Given the description of an element on the screen output the (x, y) to click on. 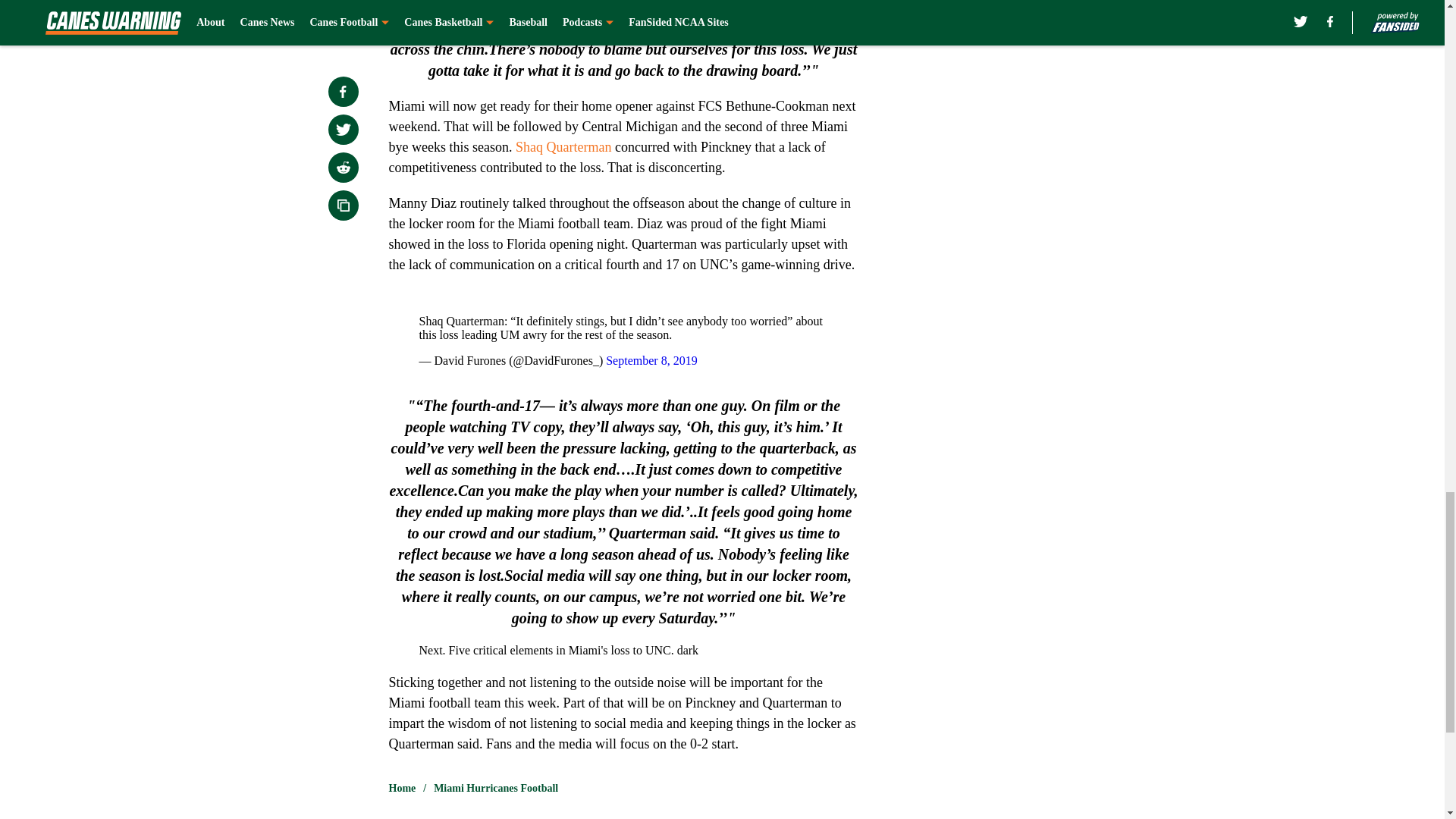
September 8, 2019 (651, 359)
Shaq Quarterman (563, 146)
Miami Hurricanes Football (495, 788)
Home (401, 788)
